Given the description of an element on the screen output the (x, y) to click on. 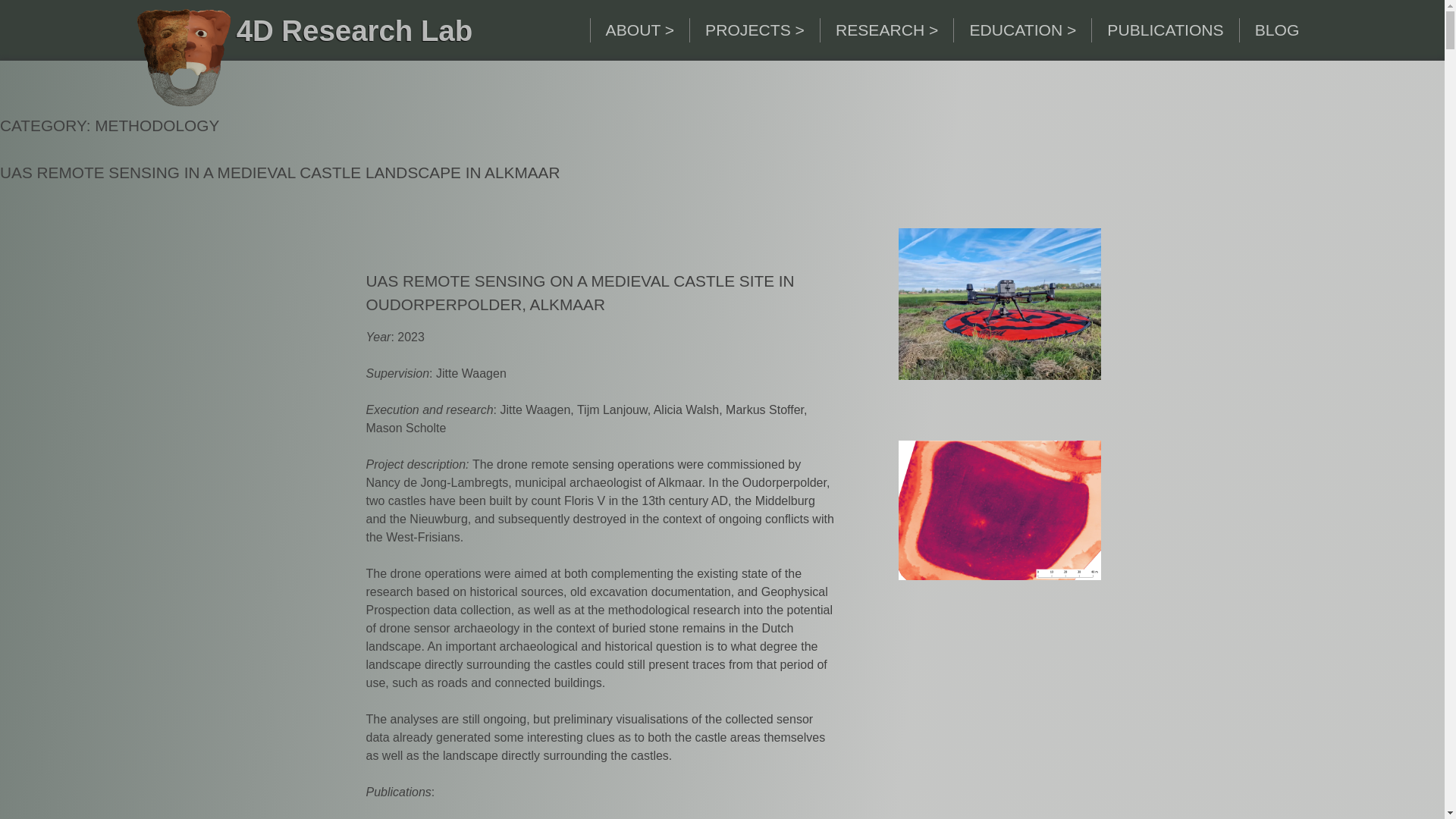
BLOG (1277, 29)
PUBLICATIONS (1164, 29)
4D Research Lab (354, 29)
UAS REMOTE SENSING IN A MEDIEVAL CASTLE LANDSCAPE IN ALKMAAR (280, 171)
